Given the description of an element on the screen output the (x, y) to click on. 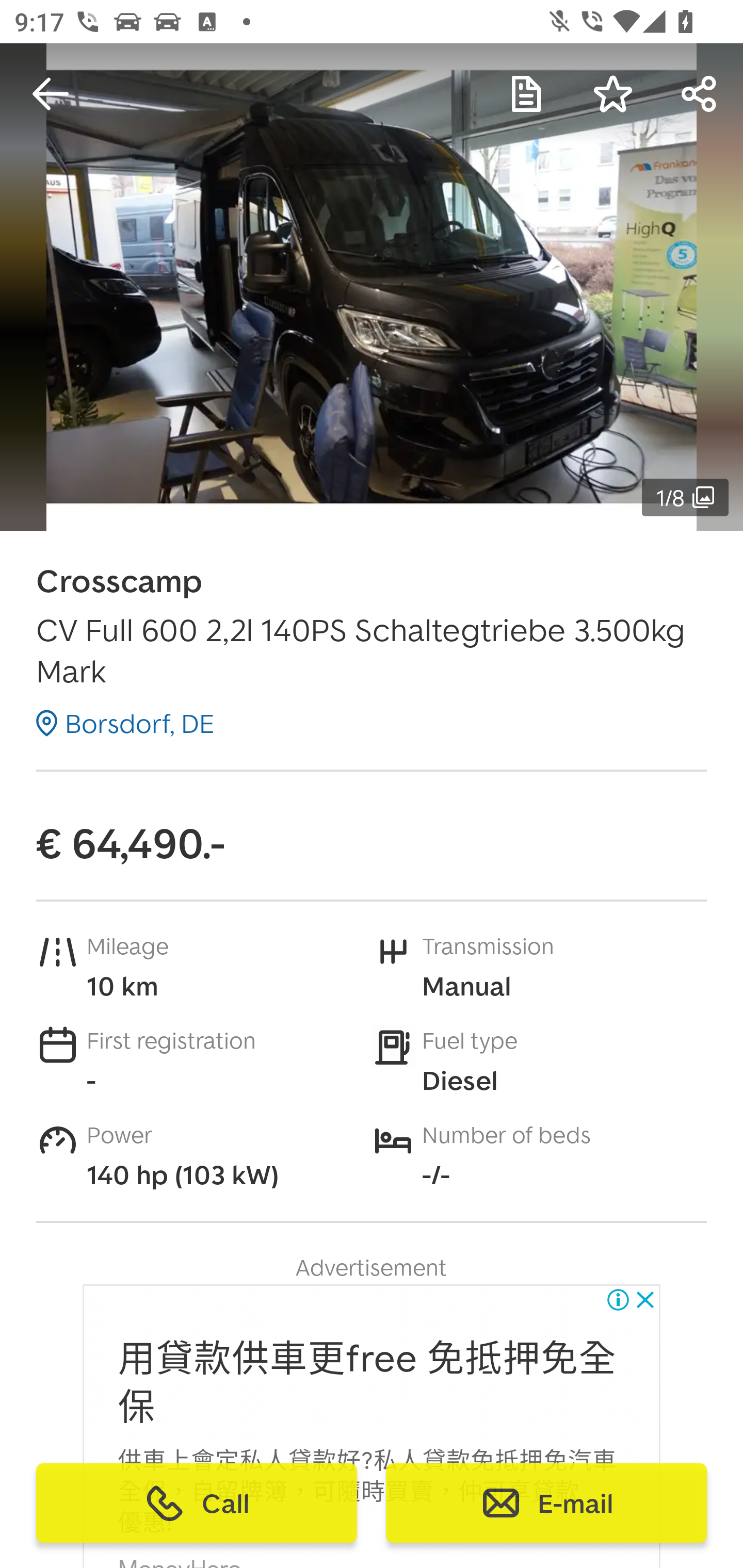
Navigate up (50, 93)
My Notes (525, 93)
Save (612, 93)
Forward (699, 93)
Borsdorf, DE (124, 722)
用貸款供車更free 免抵押免全 保 用貸款供車更free 免抵押免全 保 (366, 1382)
Call (196, 1502)
E-mail (545, 1502)
